Given the description of an element on the screen output the (x, y) to click on. 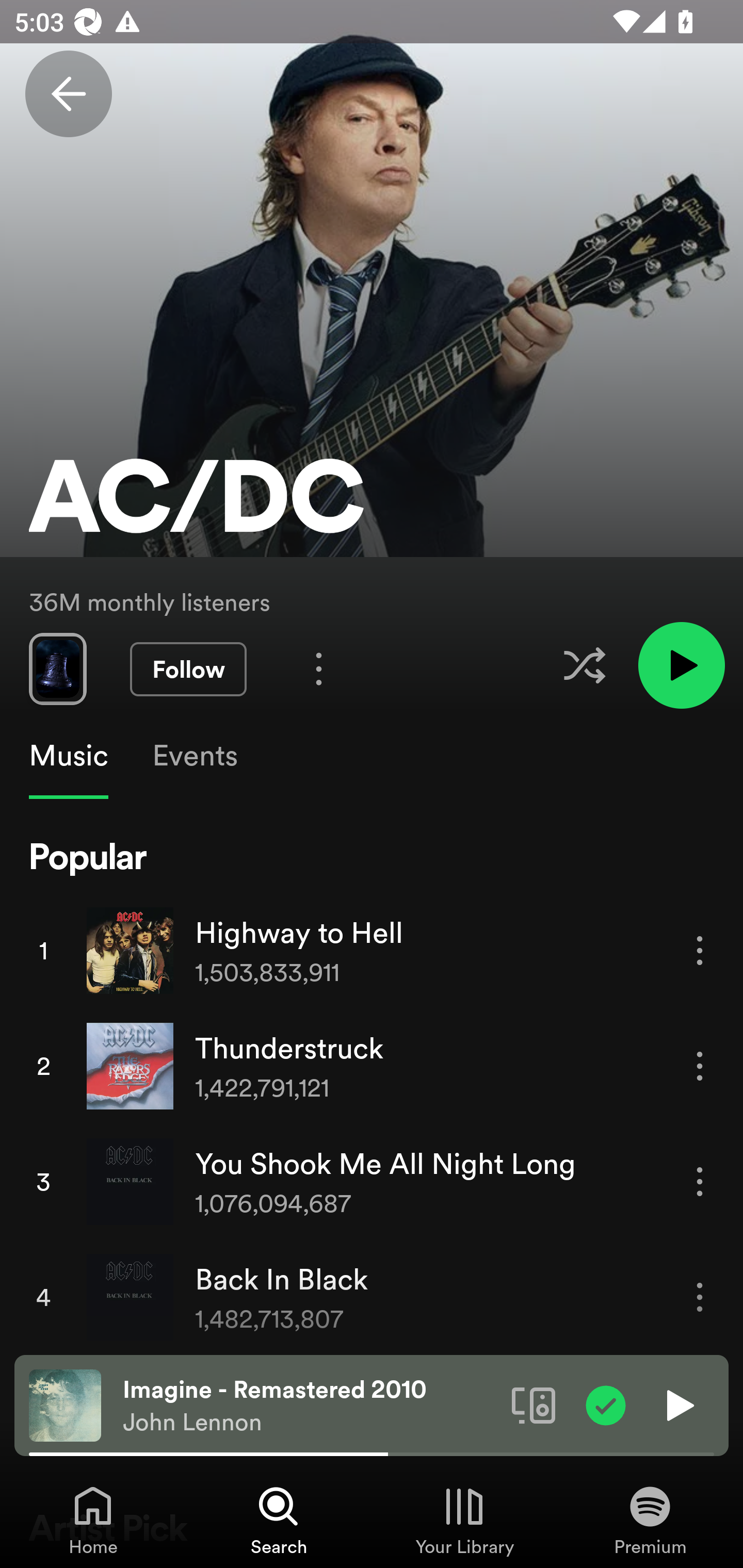
Back (68, 93)
Play artist (681, 664)
Enable shuffle for this artist (583, 665)
Swipe through previews of tracks from this artist. (57, 668)
More options for artist AC/DC (318, 668)
Follow (188, 669)
Events (194, 755)
More options for song Highway to Hell (699, 950)
More options for song Thunderstruck (699, 1066)
More options for song You Shook Me All Night Long (699, 1181)
More options for song Back In Black (699, 1297)
Imagine - Remastered 2010 John Lennon (309, 1405)
The cover art of the currently playing track (64, 1404)
Connect to a device. Opens the devices menu (533, 1404)
Item added (605, 1404)
Play (677, 1404)
Home, Tab 1 of 4 Home Home (92, 1519)
Search, Tab 2 of 4 Search Search (278, 1519)
Your Library, Tab 3 of 4 Your Library Your Library (464, 1519)
Premium, Tab 4 of 4 Premium Premium (650, 1519)
